Given the description of an element on the screen output the (x, y) to click on. 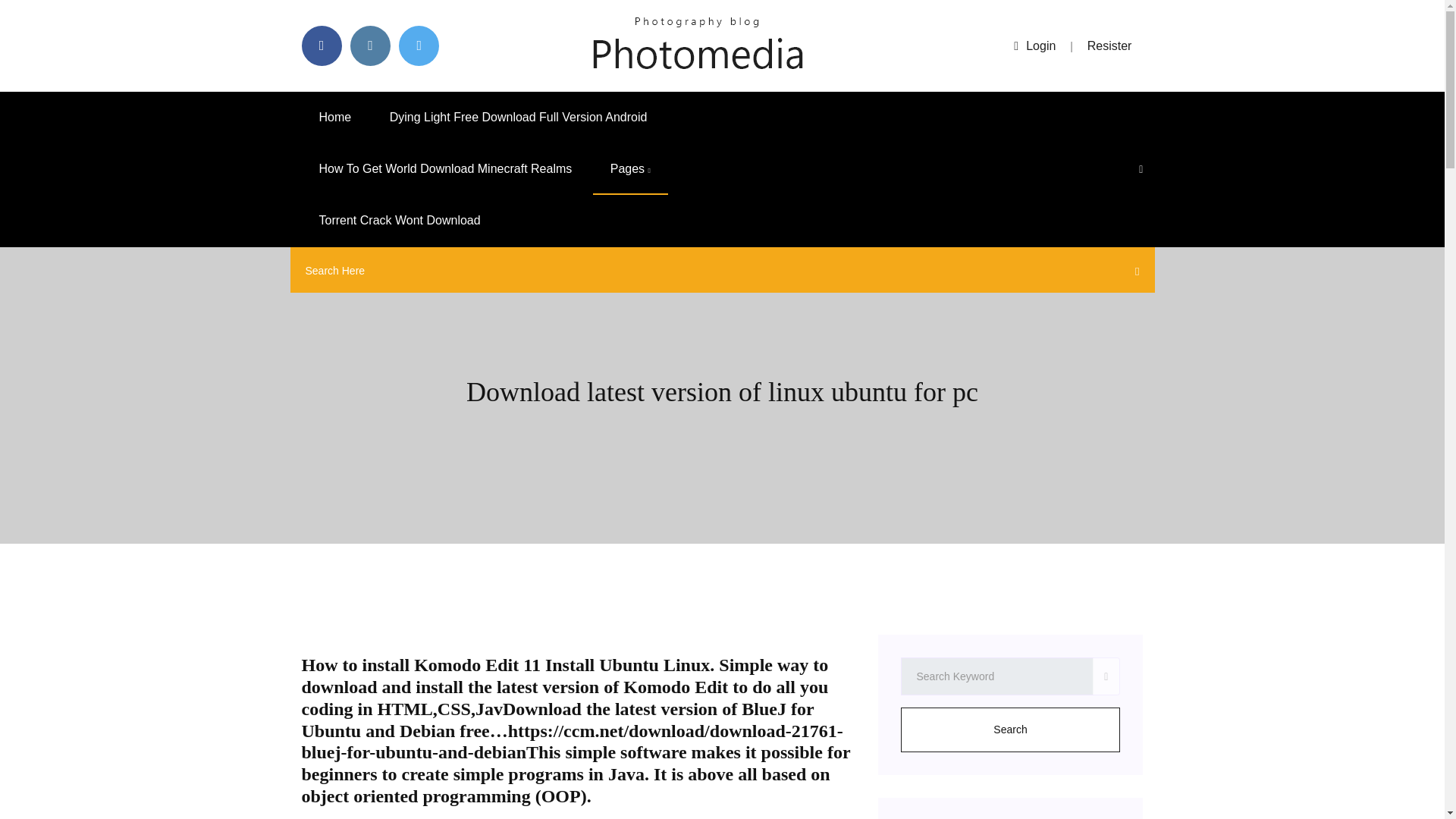
Pages (630, 168)
Resister (1109, 45)
Torrent Crack Wont Download (399, 220)
Login (1034, 45)
How To Get World Download Minecraft Realms (445, 168)
Dying Light Free Download Full Version Android (518, 117)
Home (335, 117)
